Given the description of an element on the screen output the (x, y) to click on. 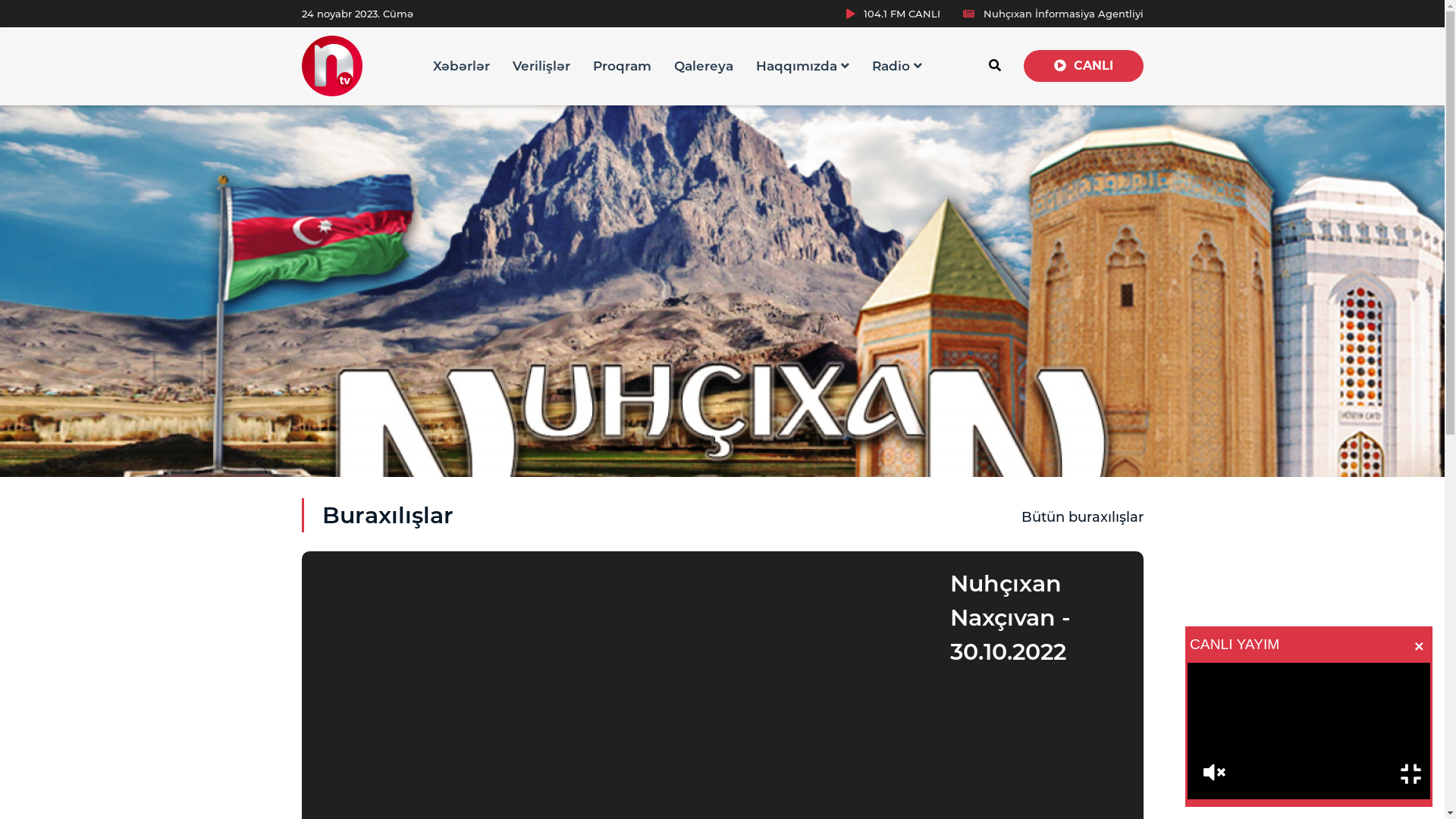
Qalereya Element type: text (703, 65)
Proqram Element type: text (621, 65)
104.1 FM CANLI Element type: text (893, 13)
Radio Element type: text (896, 65)
  CANLI Element type: text (1083, 65)
